Given the description of an element on the screen output the (x, y) to click on. 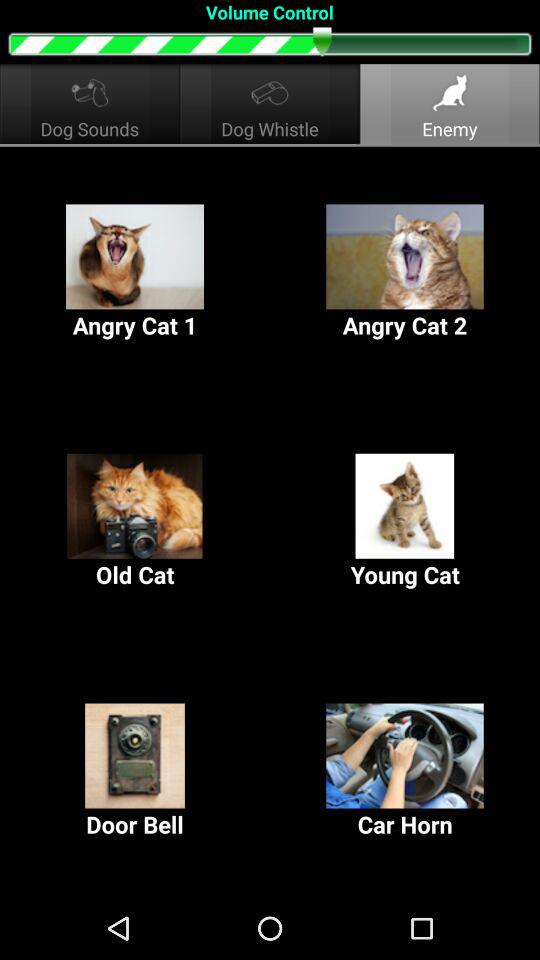
open item to the left of young cat (135, 521)
